Given the description of an element on the screen output the (x, y) to click on. 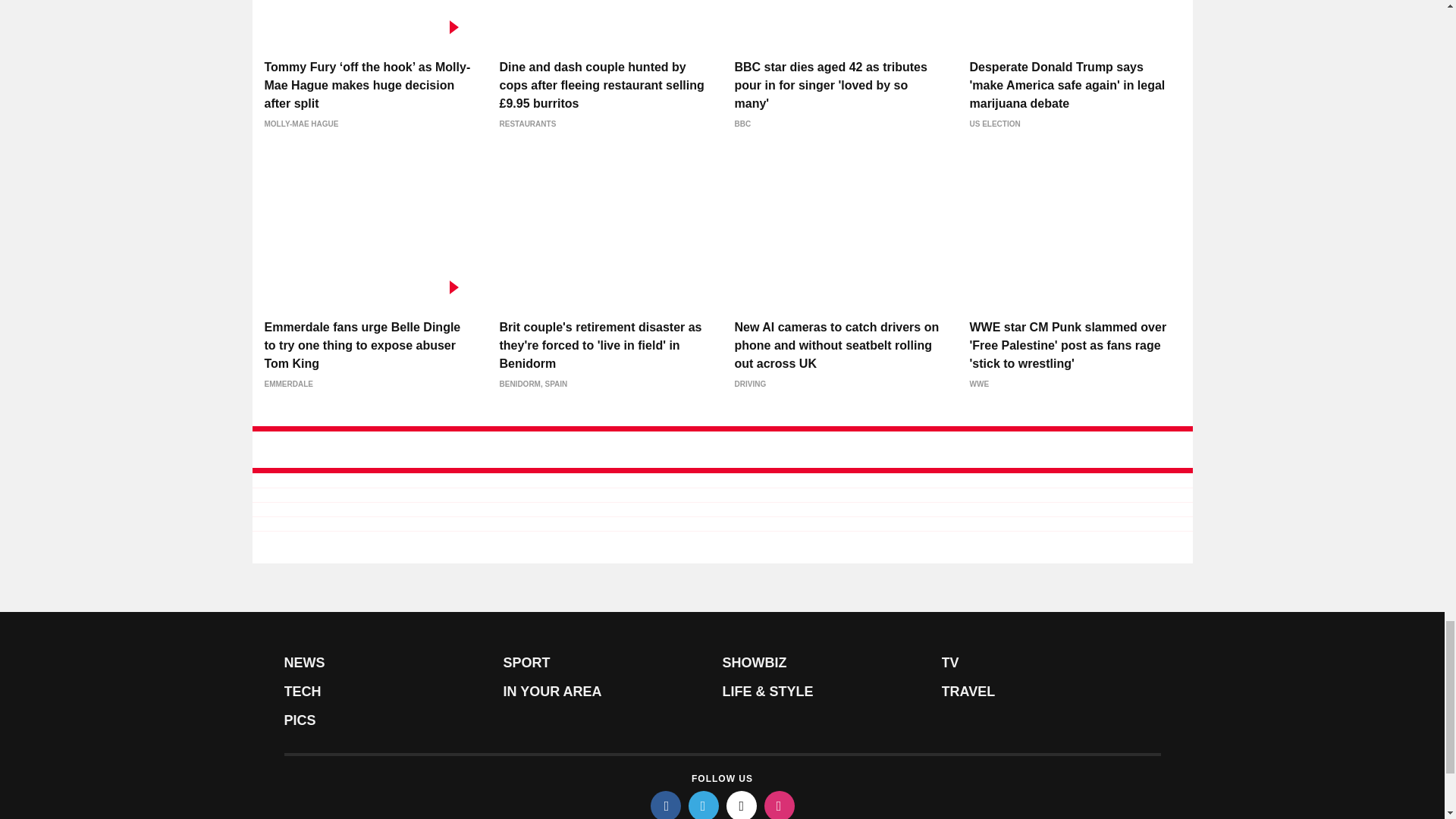
twitter (703, 805)
tiktok (741, 805)
facebook (665, 805)
instagram (779, 805)
